Given the description of an element on the screen output the (x, y) to click on. 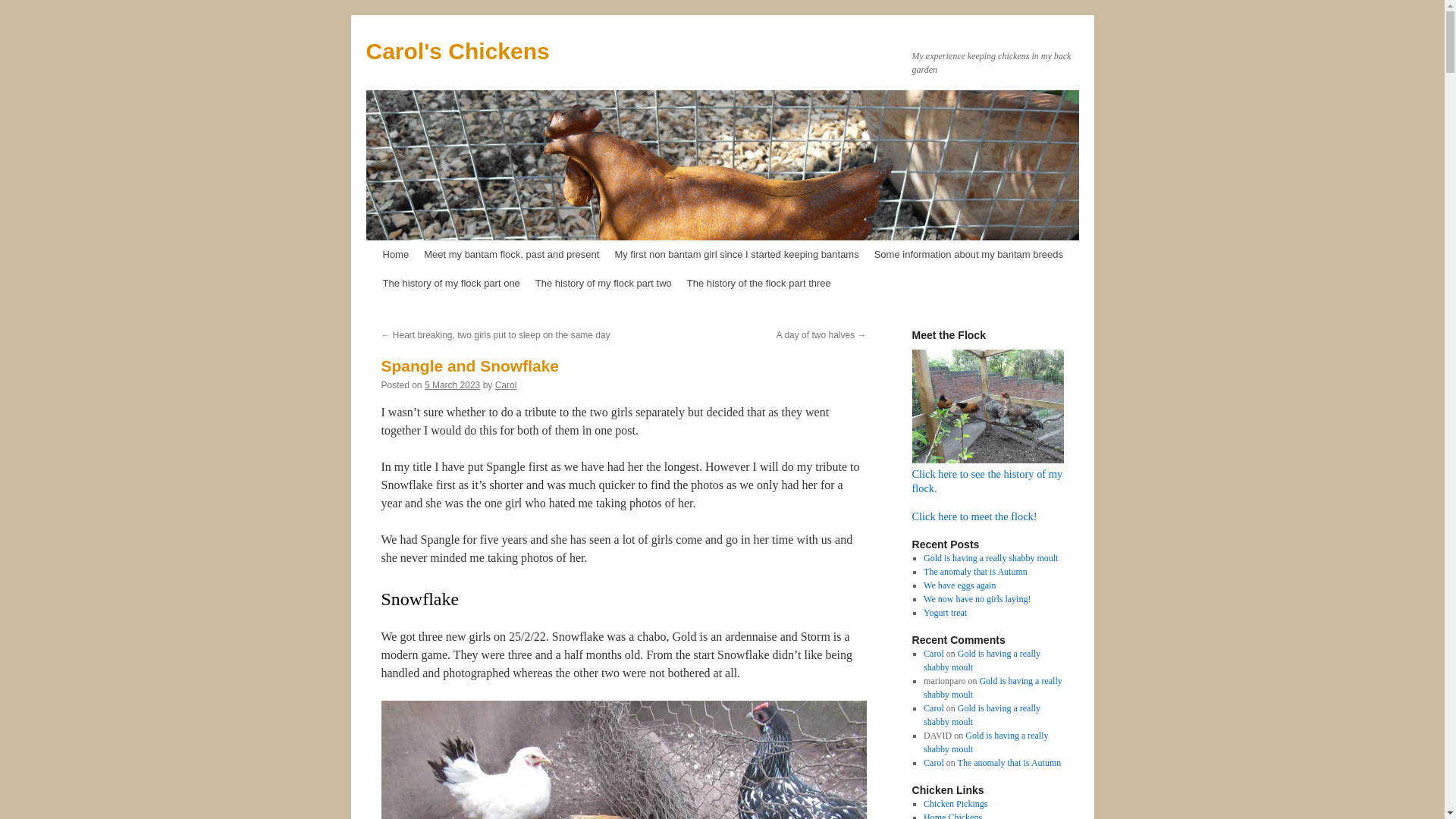
Meet my bantam flock, past and present (511, 254)
My first non bantam girl since I started keeping bantams (736, 254)
View all posts by Carol (505, 385)
The history of my flock part one (450, 283)
The history of my flock part two (603, 283)
The history of the flock part three (758, 283)
Some information about my bantam breeds (968, 254)
3:03 pm (452, 385)
Home (395, 254)
Carol's Chickens (456, 50)
